Given the description of an element on the screen output the (x, y) to click on. 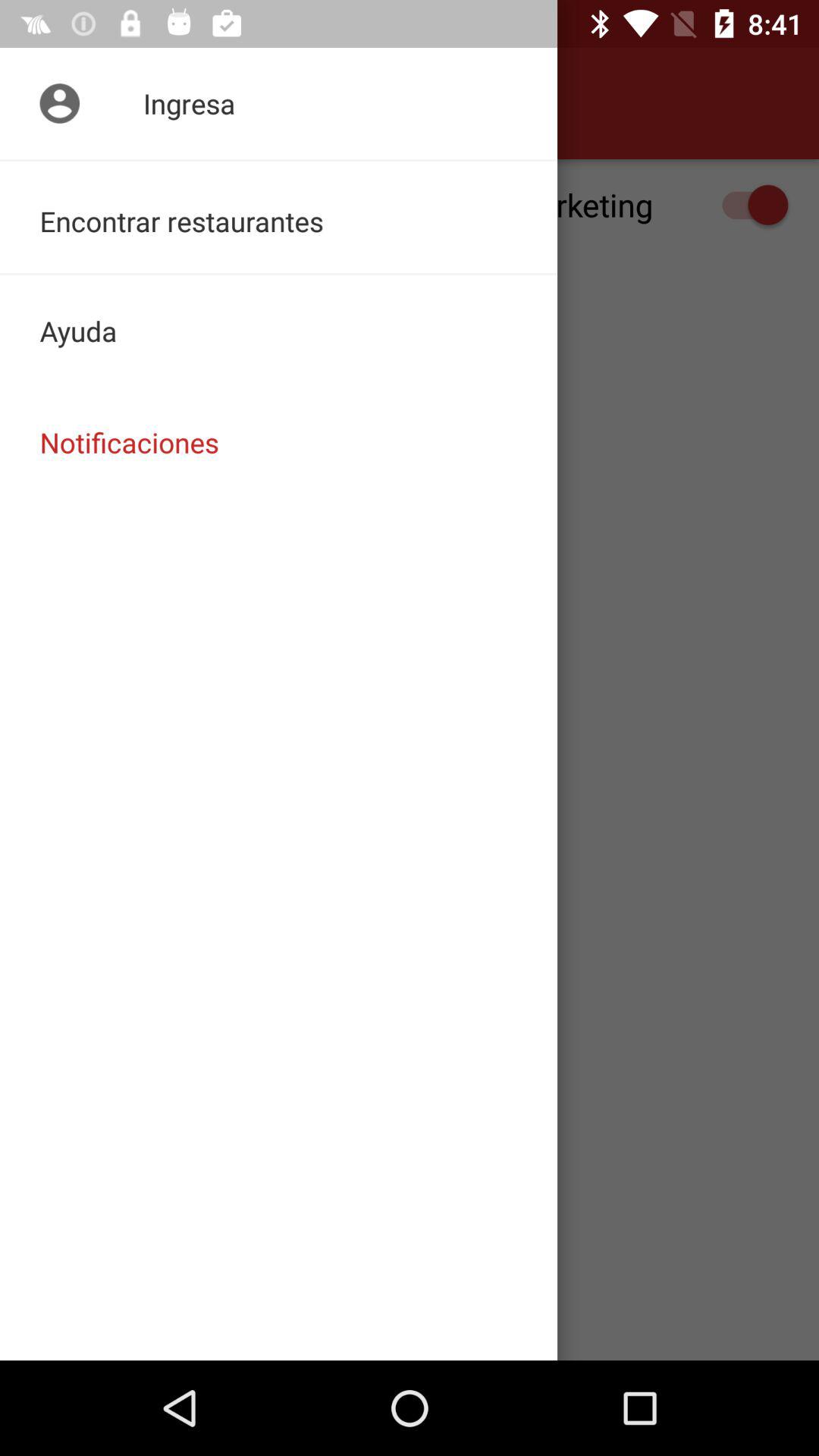
press the encontrar restaurantes icon (278, 217)
